Given the description of an element on the screen output the (x, y) to click on. 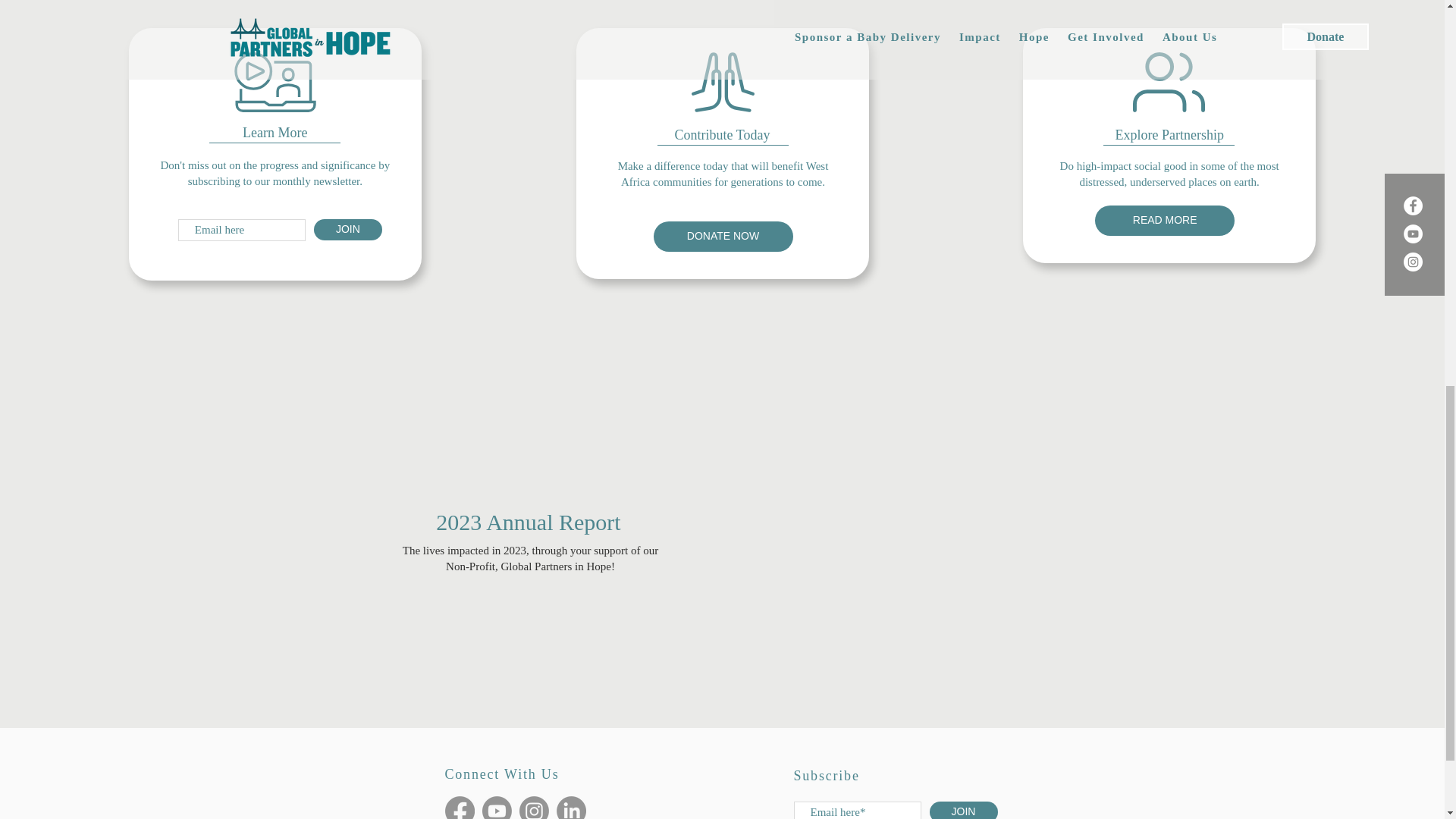
READ MORE (1164, 220)
JOIN (347, 229)
JOIN (963, 810)
DONATE NOW (723, 236)
